Given the description of an element on the screen output the (x, y) to click on. 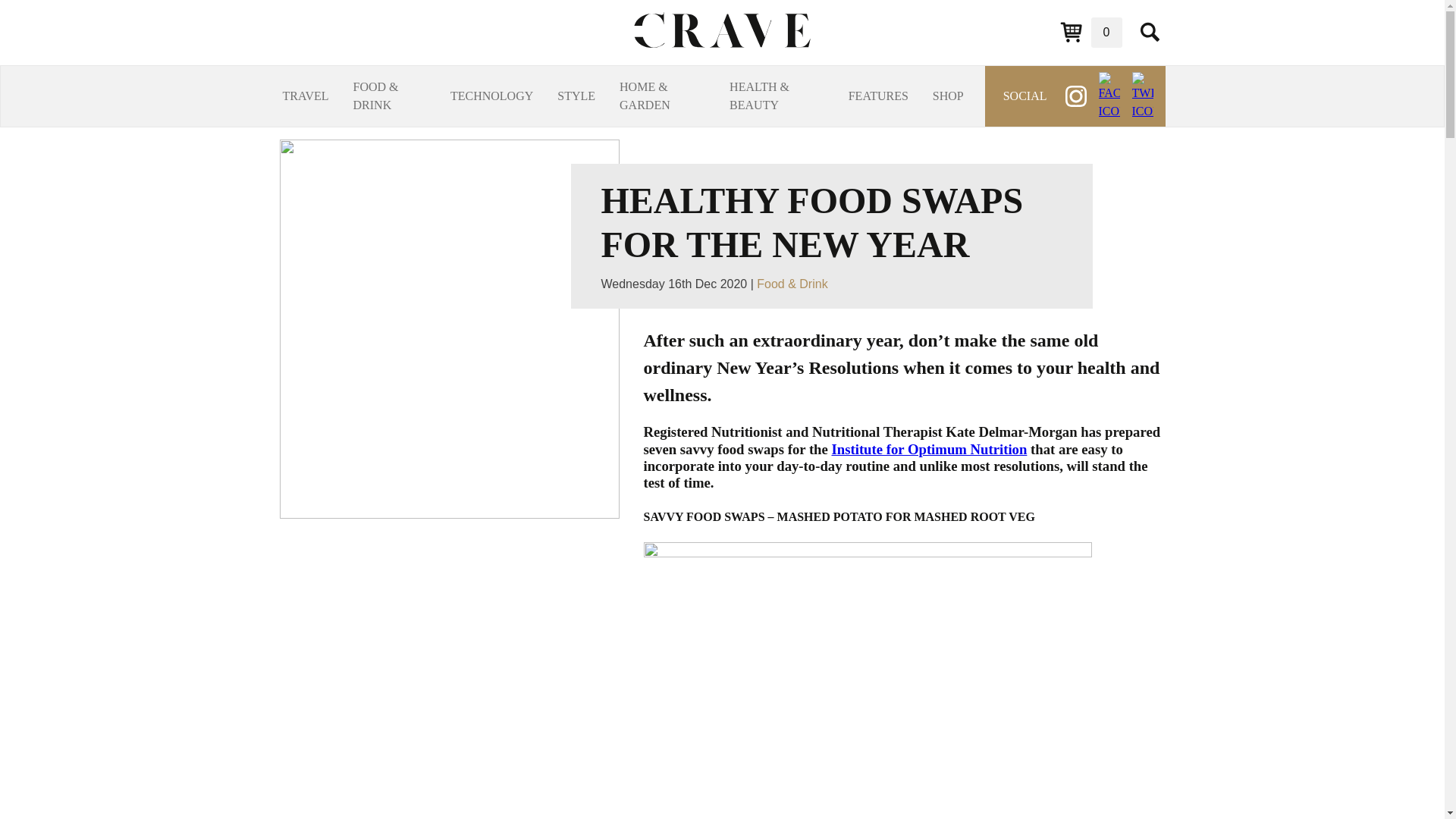
STYLE (576, 96)
SHOP (948, 96)
FEATURES (878, 96)
Cart View (1090, 32)
TECHNOLOGY (490, 96)
Institute for Optimum Nutrition (928, 449)
0 (1090, 32)
TRAVEL (305, 96)
